Given the description of an element on the screen output the (x, y) to click on. 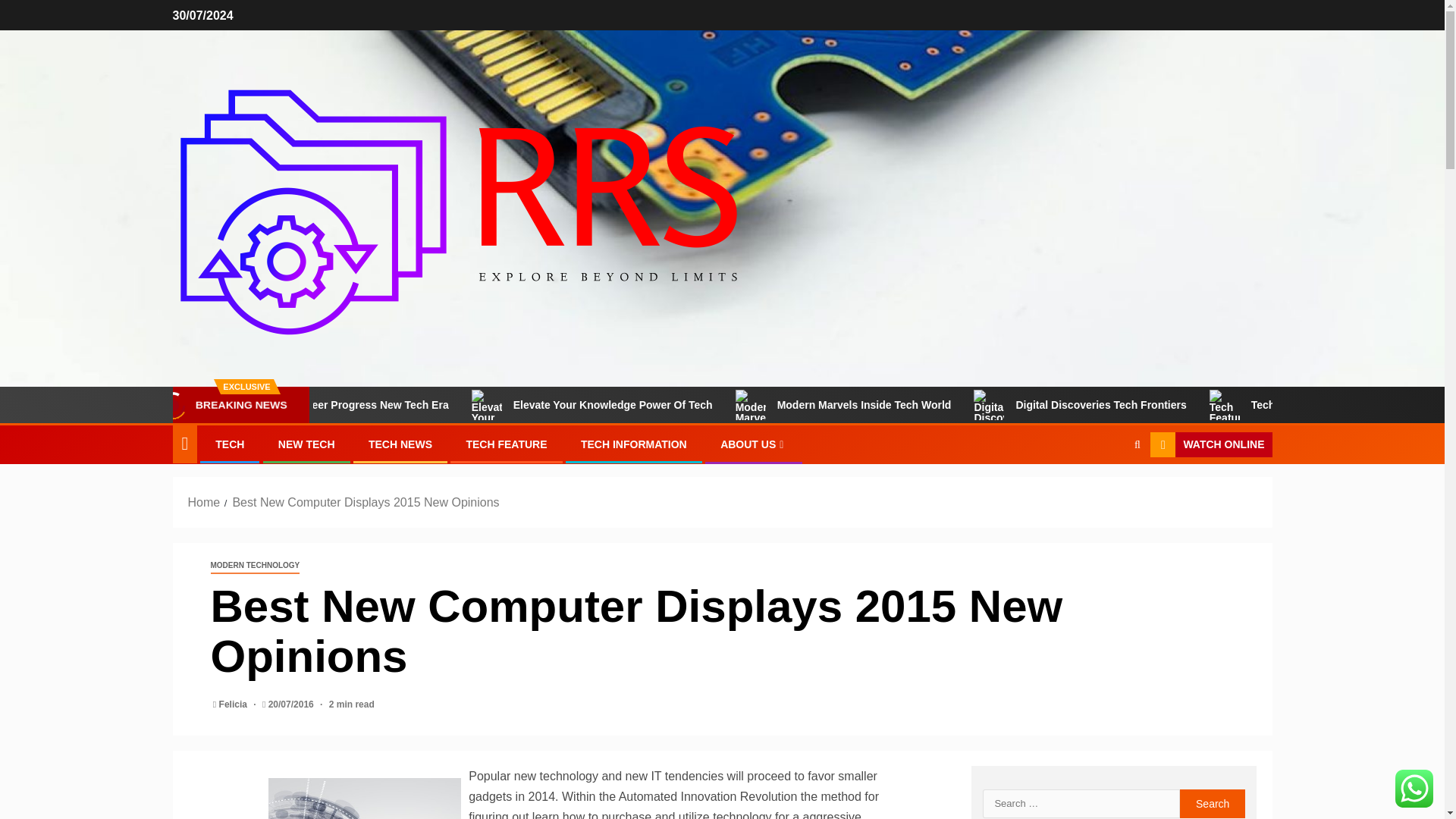
Search (1107, 491)
WATCH ONLINE (1210, 444)
Elevate Your Knowledge Power Of Tech (668, 404)
Home (204, 502)
TECH NEWS (400, 444)
TECH FEATURE (506, 444)
Pioneer Progress New Tech Era (426, 404)
MODERN TECHNOLOGY (255, 565)
Digital Discoveries Tech Frontiers (1154, 404)
TECH INFORMATION (633, 444)
Best New Computer Displays 2015 New Opinions (365, 502)
NEW TECH (306, 444)
Search (1212, 803)
Search (1212, 803)
TECH (229, 444)
